Given the description of an element on the screen output the (x, y) to click on. 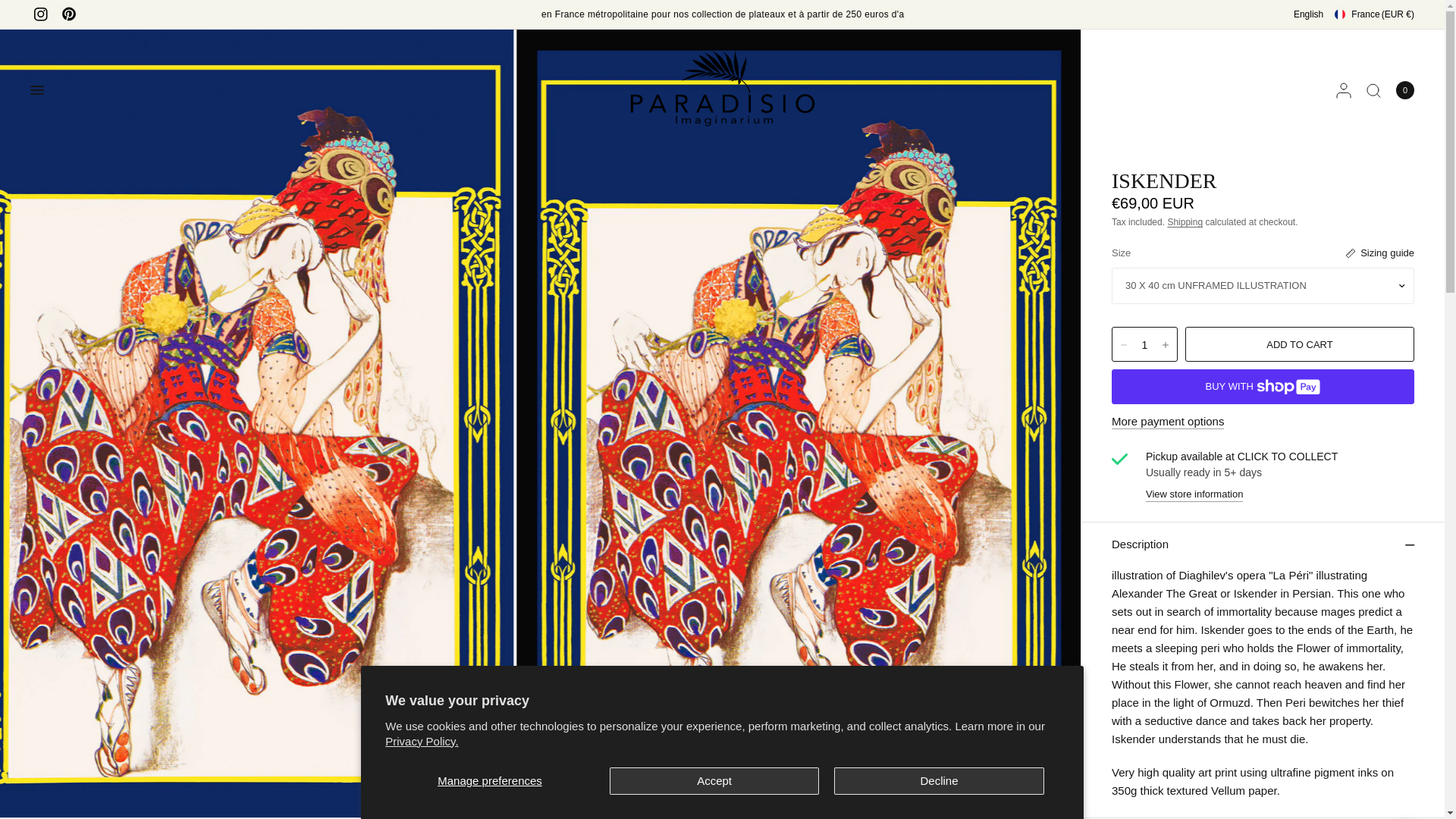
Manage preferences (489, 780)
Accept (714, 780)
Pinterest (68, 14)
Decline (938, 780)
English (1308, 14)
Instagram (40, 14)
Privacy Policy. (421, 739)
